Given the description of an element on the screen output the (x, y) to click on. 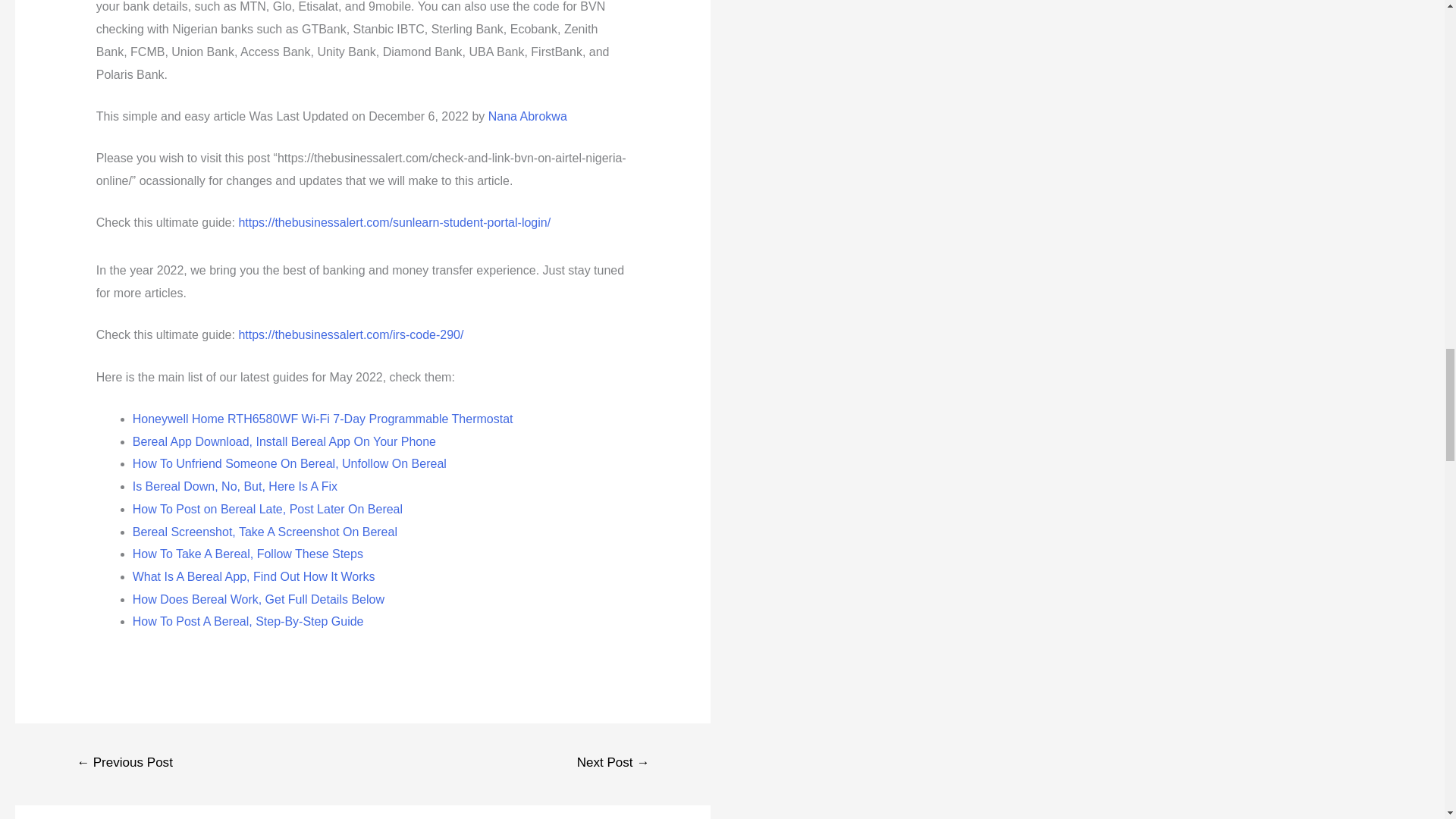
What Is A Bereal App, Find Out How It Works (253, 576)
Nana Abrokwa (527, 115)
How To Take A Bereal, Follow These Steps (247, 553)
Bereal App Download, Install Bereal App On Your Phone (283, 440)
Honeywell Home RTH6580WF Wi-Fi 7-Day Programmable Thermostat (322, 418)
How To Unfriend Someone On Bereal, Unfollow On Bereal (289, 463)
How To Post on Bereal Late, Post Later On Bereal (267, 508)
How To Post A Bereal, Step-By-Step Guide (248, 621)
How Does Bereal Work, Get Full Details Below (258, 599)
Bereal Screenshot, Take A Screenshot On Bereal (264, 531)
Is Bereal Down, No, But, Here Is A Fix (234, 486)
